Given the description of an element on the screen output the (x, y) to click on. 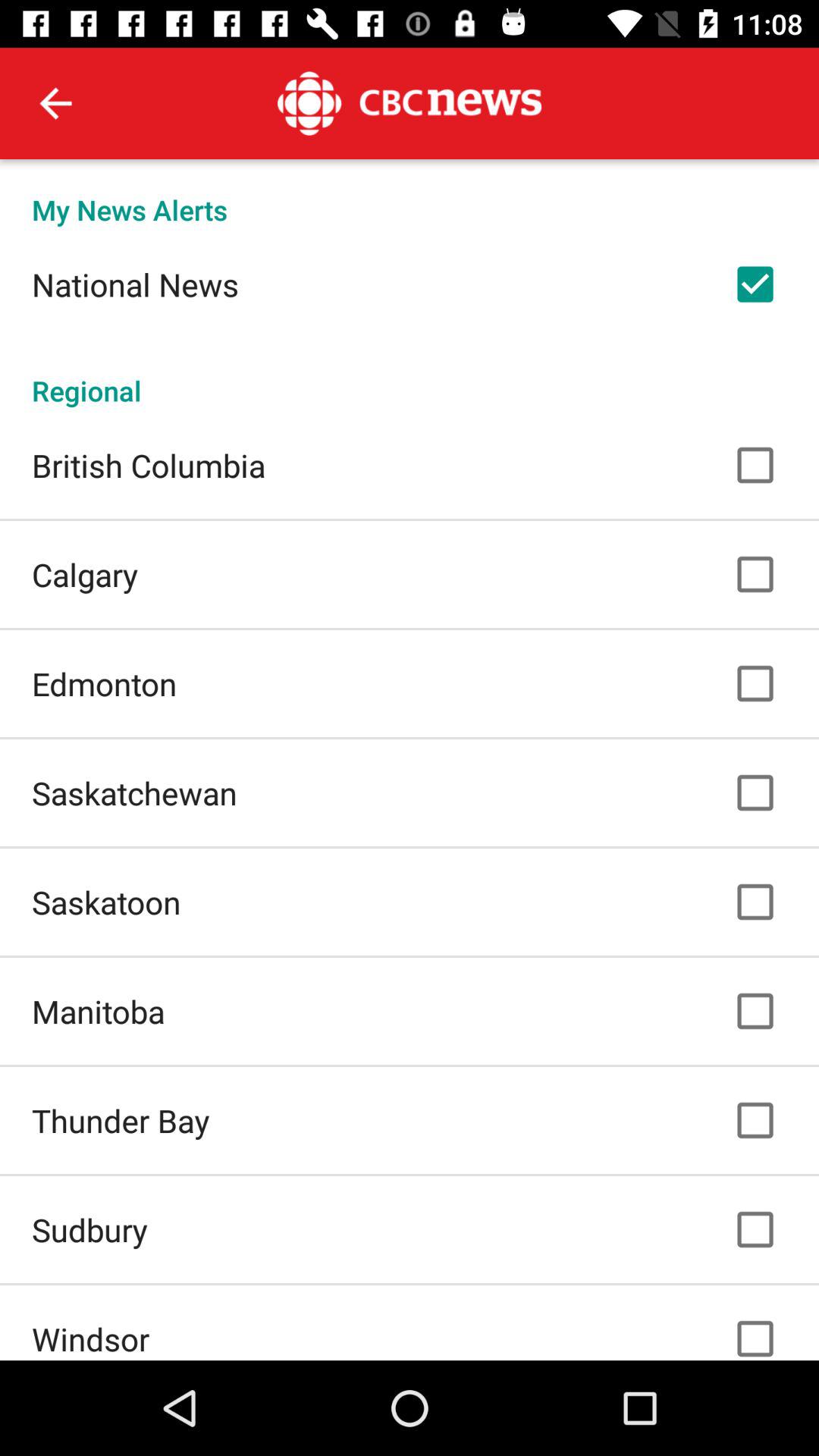
press the calgary icon (84, 574)
